Given the description of an element on the screen output the (x, y) to click on. 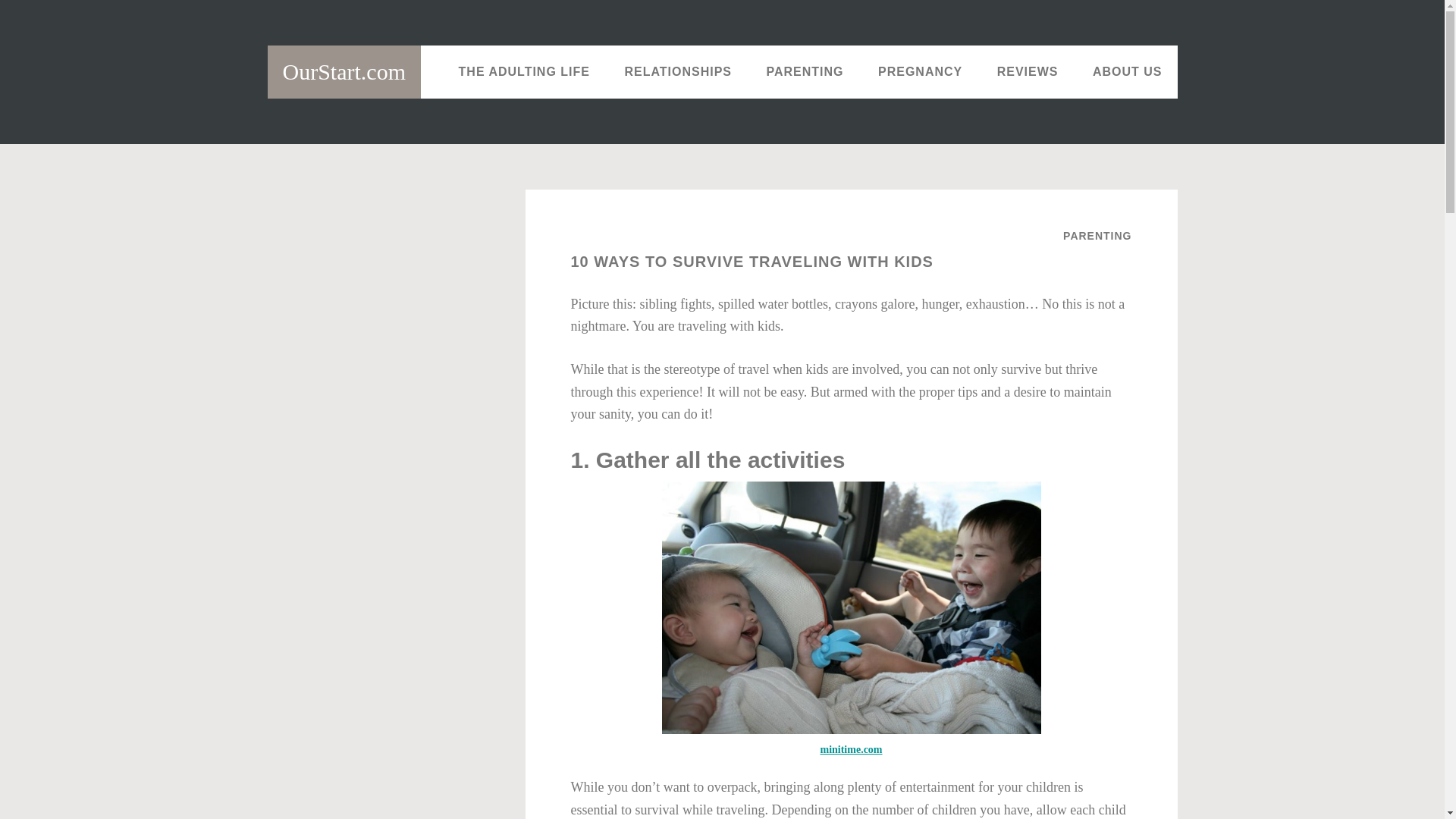
PREGNANCY (919, 71)
THE ADULTING LIFE (524, 71)
PARENTING (1096, 235)
ABOUT US (1127, 71)
PARENTING (805, 71)
REVIEWS (1027, 71)
minitime.com (850, 749)
RELATIONSHIPS (677, 71)
OurStart.com (343, 71)
